Given the description of an element on the screen output the (x, y) to click on. 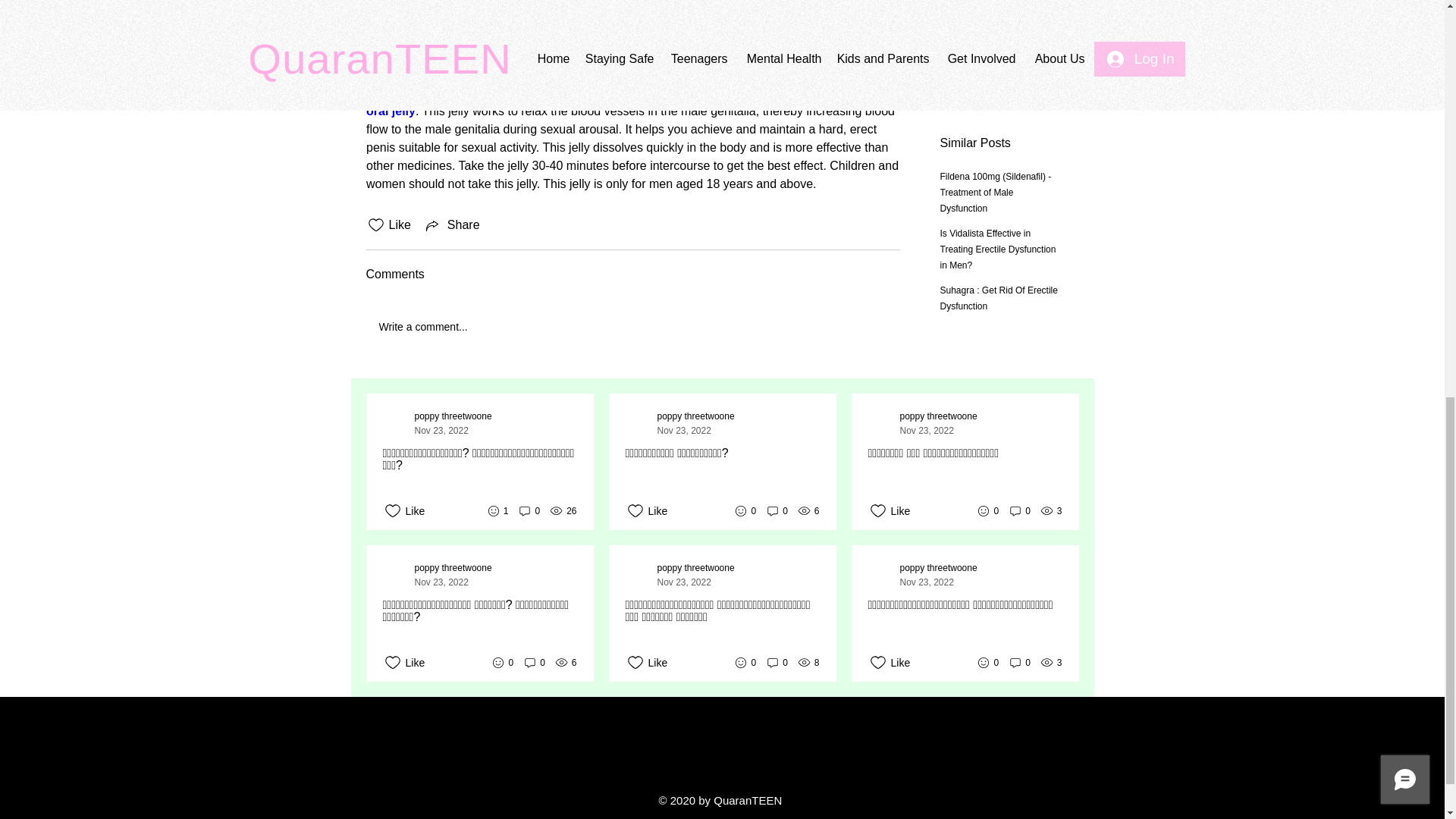
kamagra 100mg oral jelly (623, 101)
Write a comment... (632, 326)
Share (451, 225)
